Given the description of an element on the screen output the (x, y) to click on. 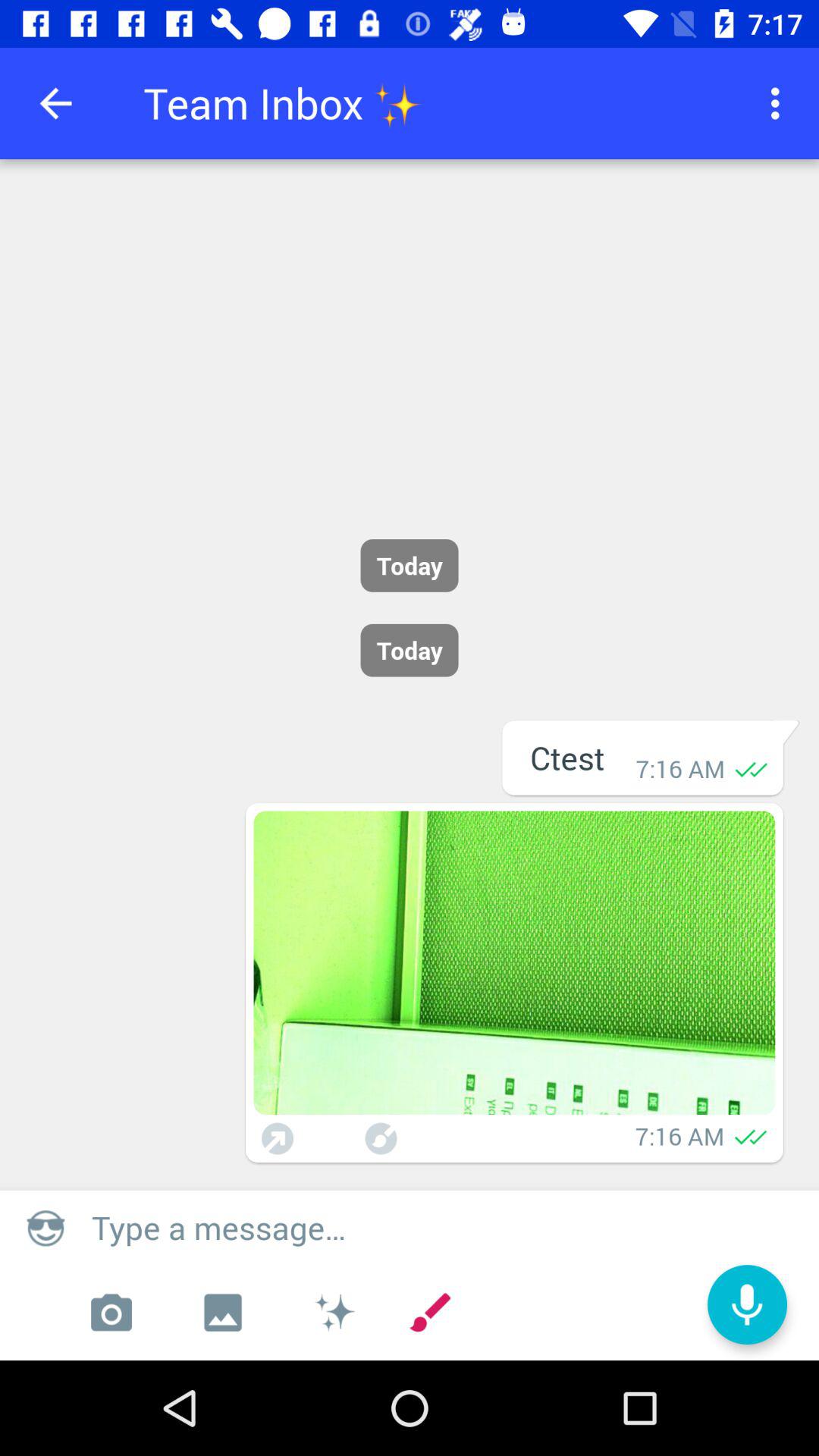
previous page (55, 103)
